Given the description of an element on the screen output the (x, y) to click on. 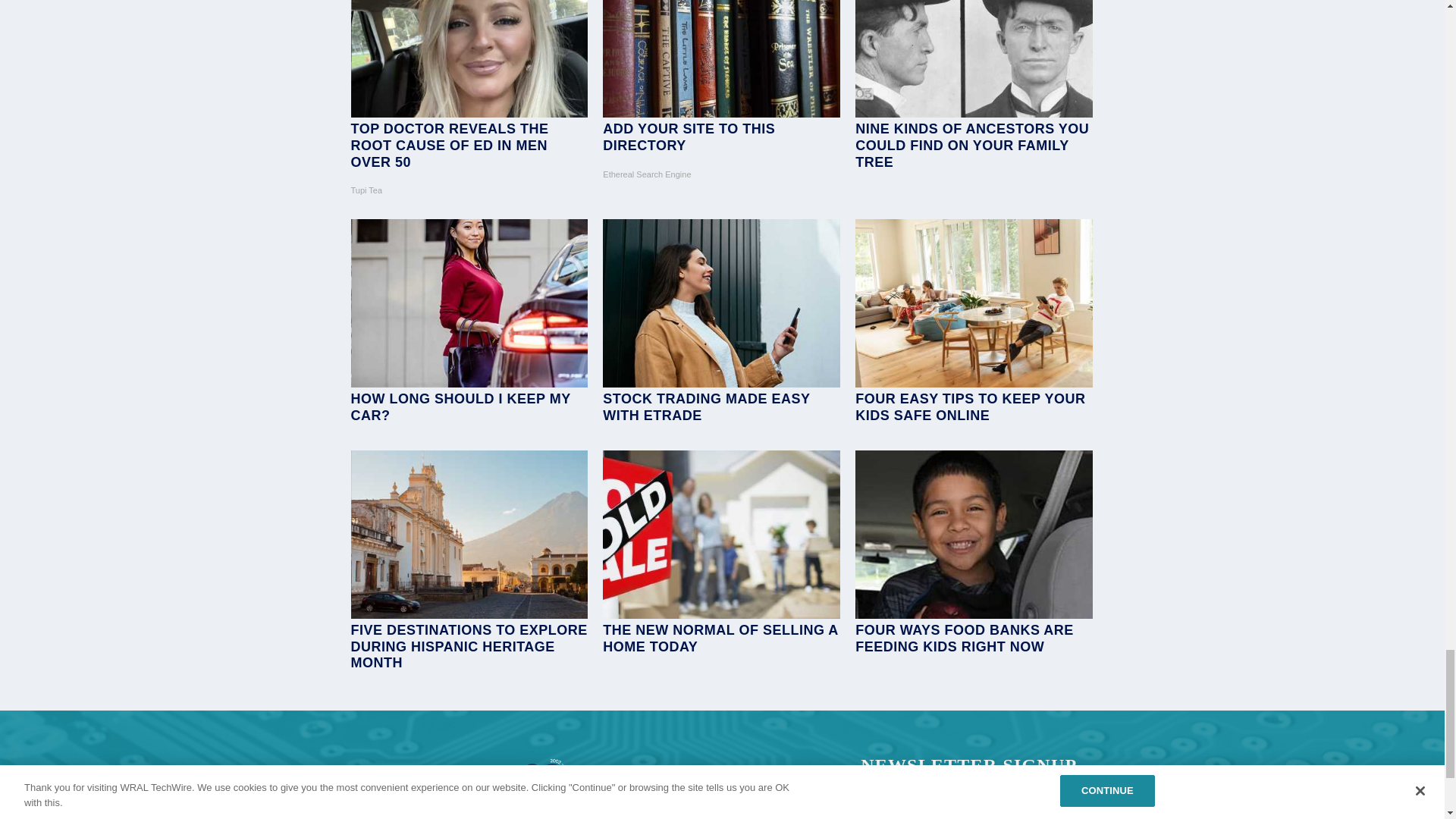
SUBMIT (1061, 816)
